Given the description of an element on the screen output the (x, y) to click on. 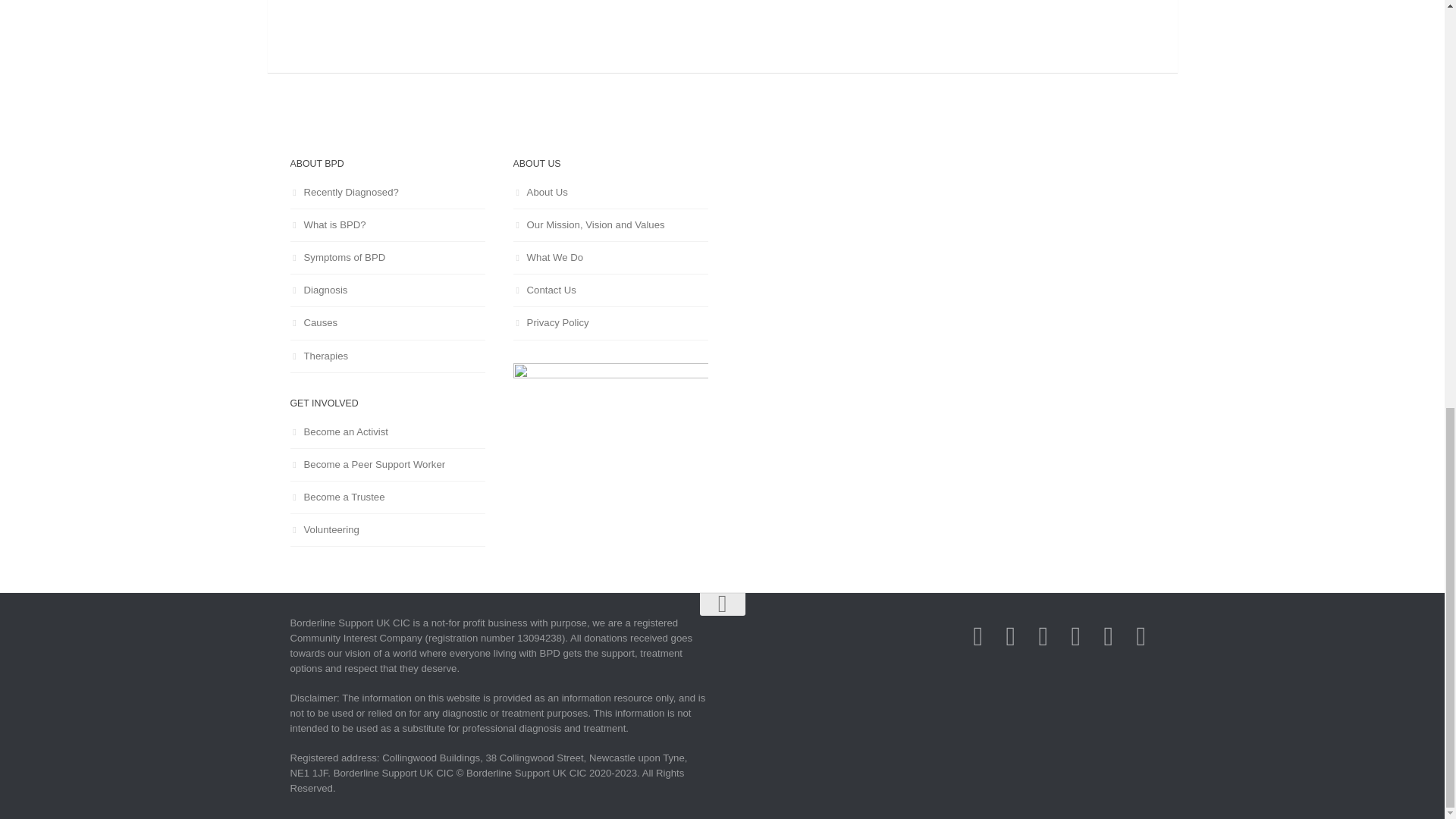
Follow us on Instagram (1043, 636)
Follow us on Facebook (977, 636)
Follow us on Pinterest (1140, 636)
Follow us on Youtube (1107, 636)
Follow us on Twitter (1010, 636)
Follow us on Linkedin (1075, 636)
